Given the description of an element on the screen output the (x, y) to click on. 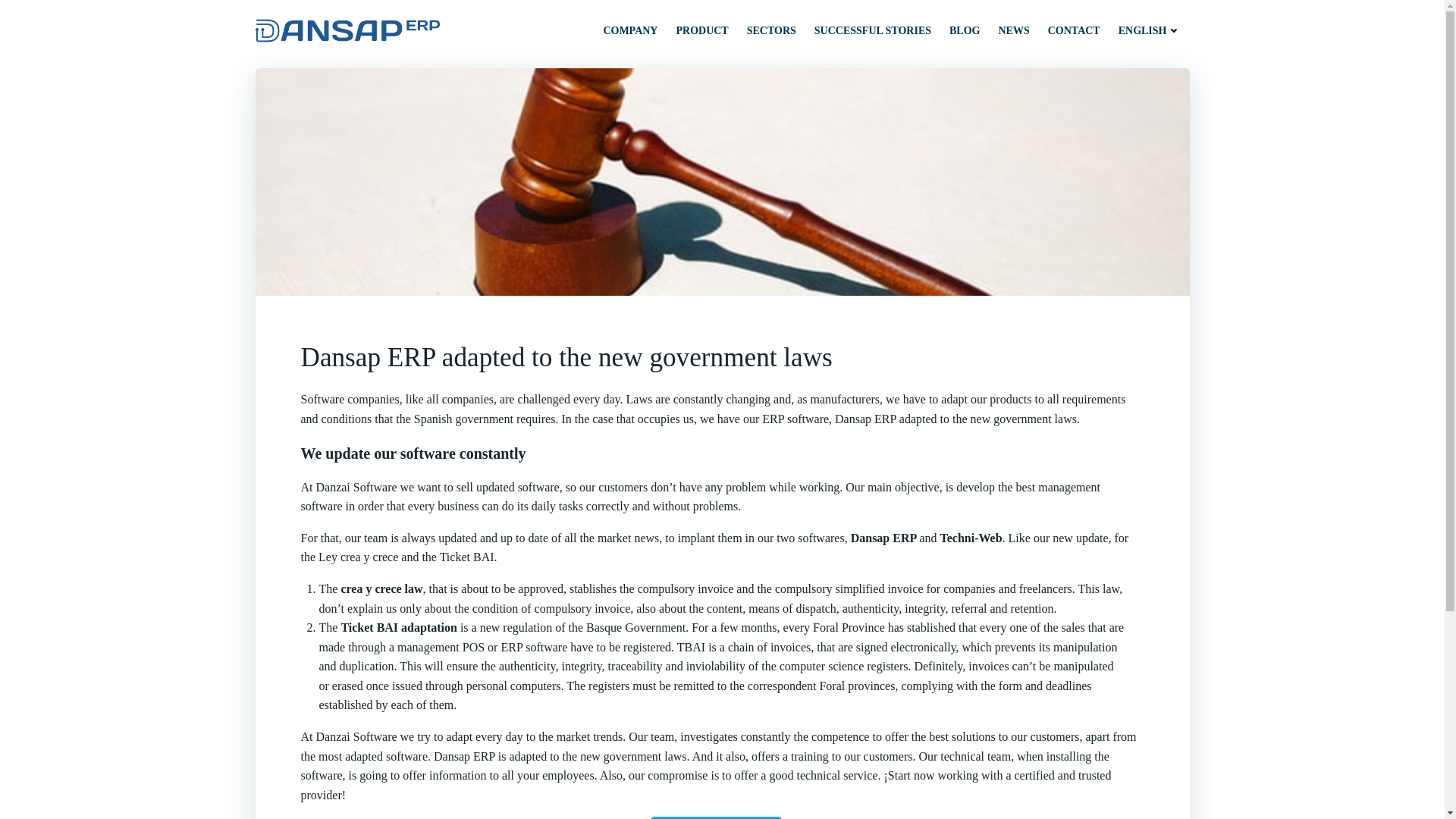
COMPANY (630, 30)
SECTORS (771, 30)
CONTACT (1074, 30)
ENGLISH (1149, 30)
NEWS (1013, 30)
Dansap ERP adapted to the new government laws (720, 357)
SUCCESSFUL STORIES (872, 30)
BLOG (964, 30)
PRODUCT (701, 30)
